Given the description of an element on the screen output the (x, y) to click on. 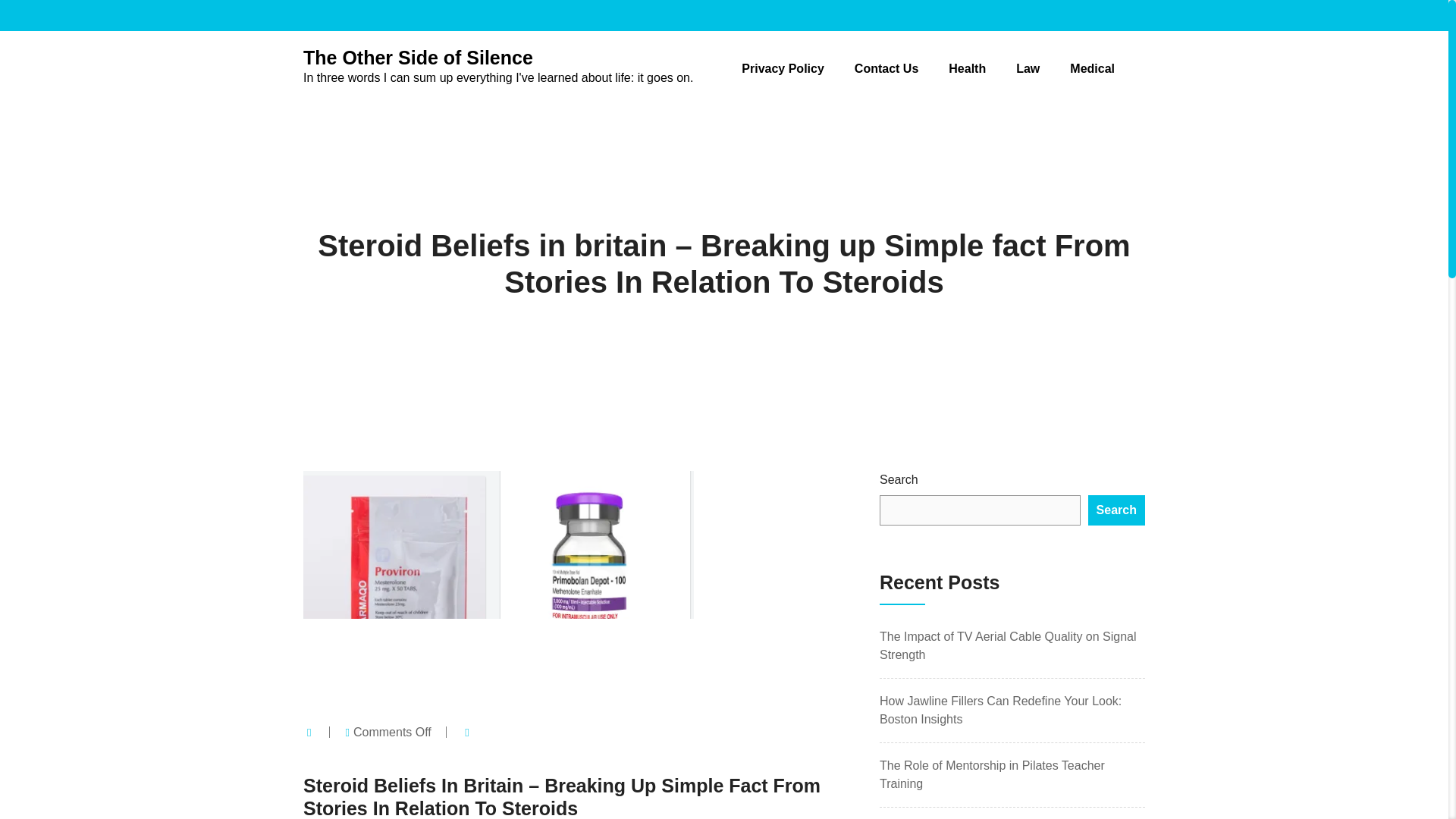
The Impact of TV Aerial Cable Quality on Signal Strength (1008, 644)
How Jawline Fillers Can Redefine Your Look: Boston Insights (1000, 709)
Medical (1092, 68)
Search (1115, 510)
Privacy Policy (782, 68)
Contact Us (886, 68)
The Role of Mentorship in Pilates Teacher Training (992, 774)
